Given the description of an element on the screen output the (x, y) to click on. 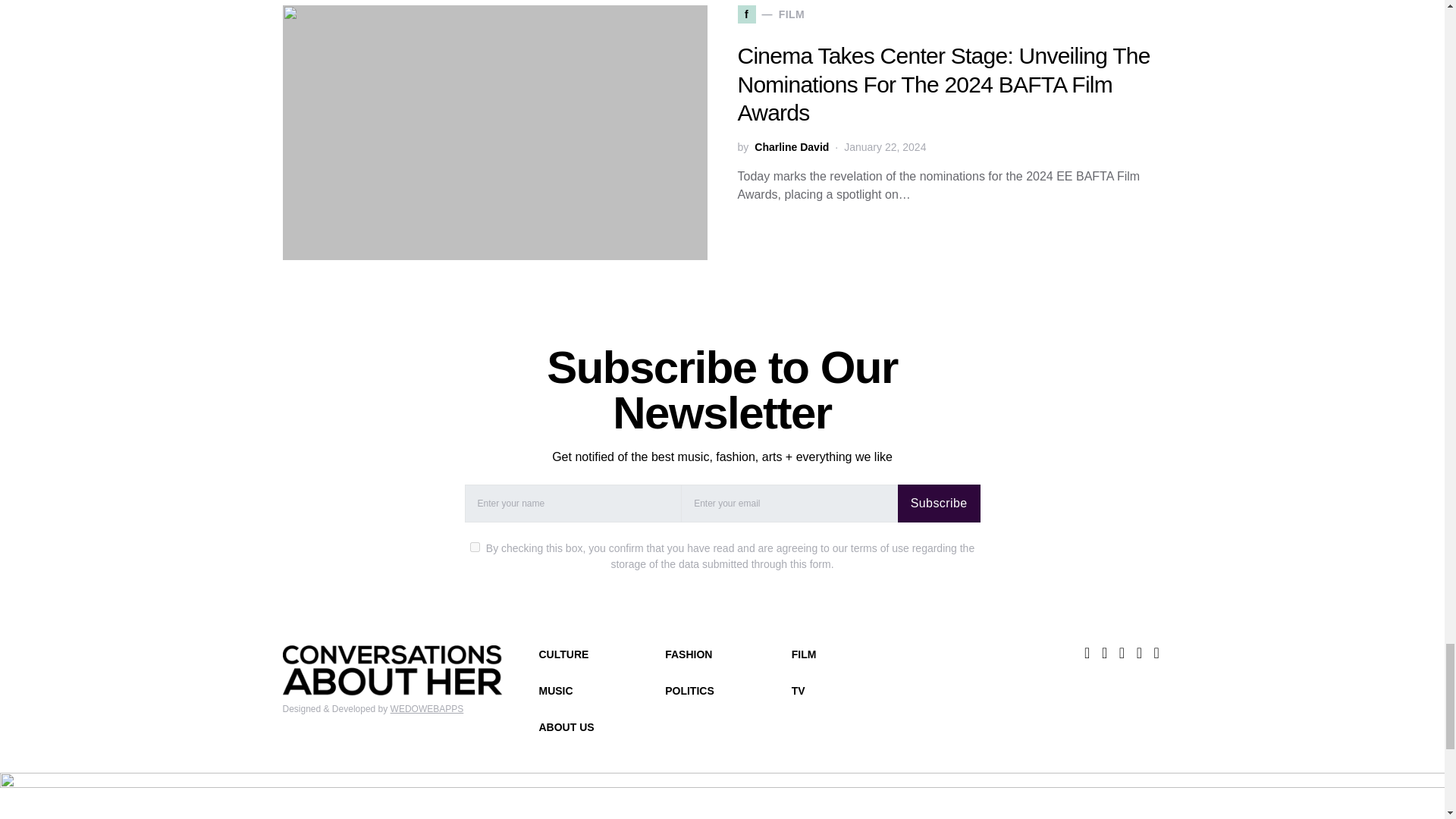
View all posts by Charline David (791, 147)
on (475, 547)
